Given the description of an element on the screen output the (x, y) to click on. 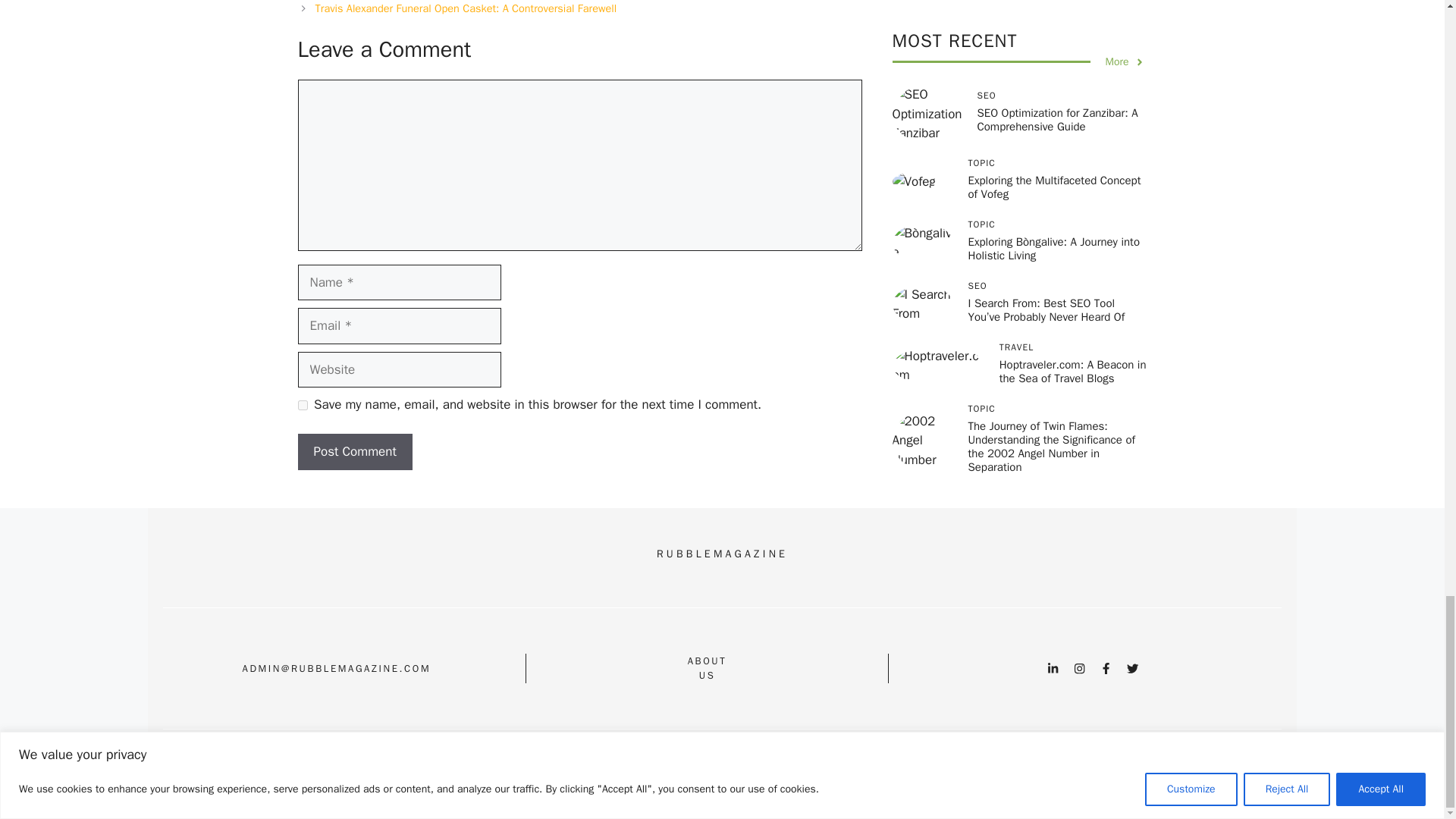
Post Comment (354, 452)
Post Comment (354, 452)
yes (302, 405)
